Given the description of an element on the screen output the (x, y) to click on. 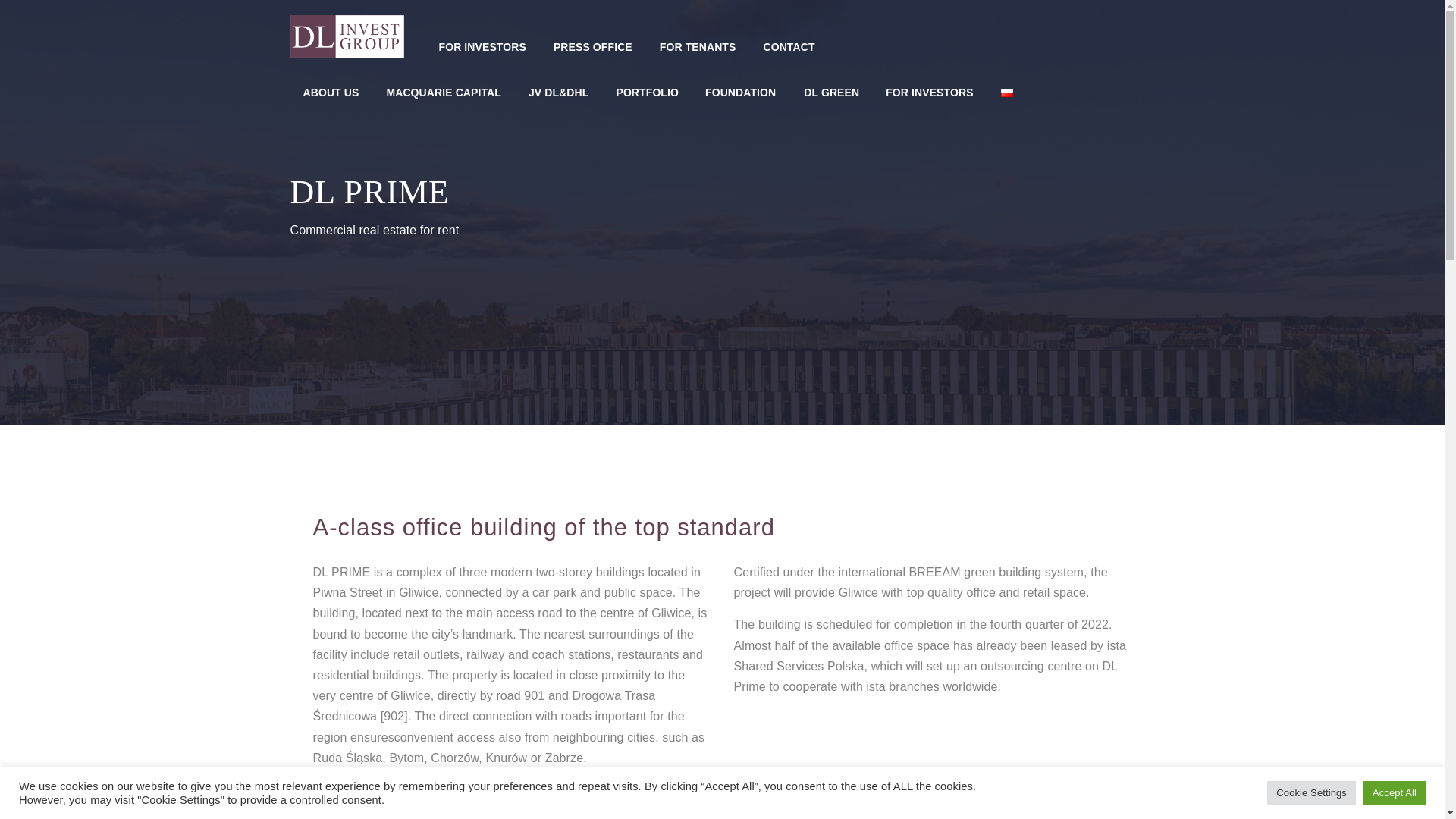
CONTACT (787, 46)
FOR TENANTS (697, 46)
PORTFOLIO (646, 92)
FOR INVESTORS (928, 92)
FOUNDATION (740, 92)
MACQUARIE CAPITAL (442, 92)
FOR INVESTORS (481, 46)
ABOUT US (330, 92)
PRESS OFFICE (592, 46)
DL GREEN (831, 92)
